Given the description of an element on the screen output the (x, y) to click on. 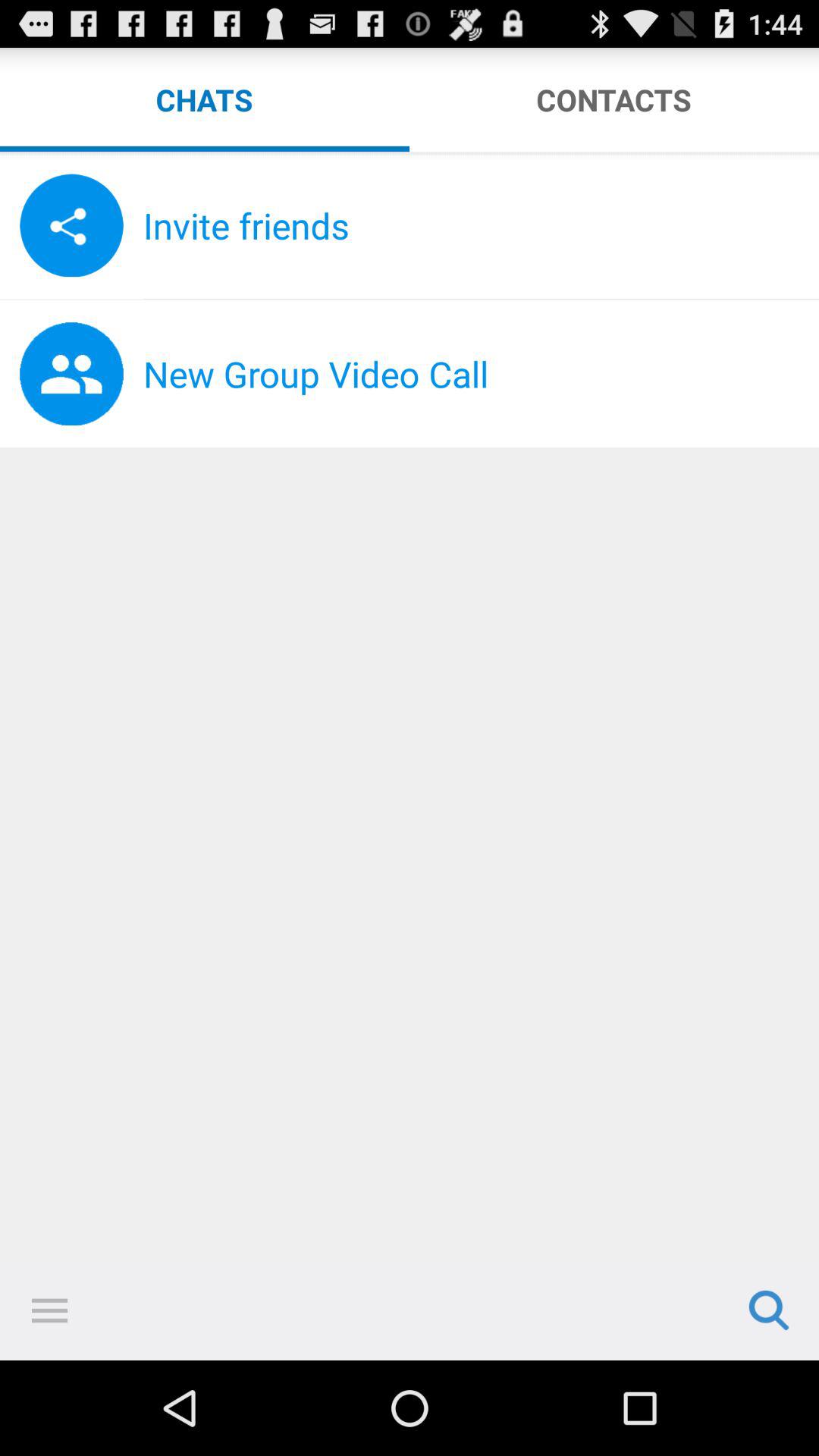
jump to the new group video item (481, 373)
